Given the description of an element on the screen output the (x, y) to click on. 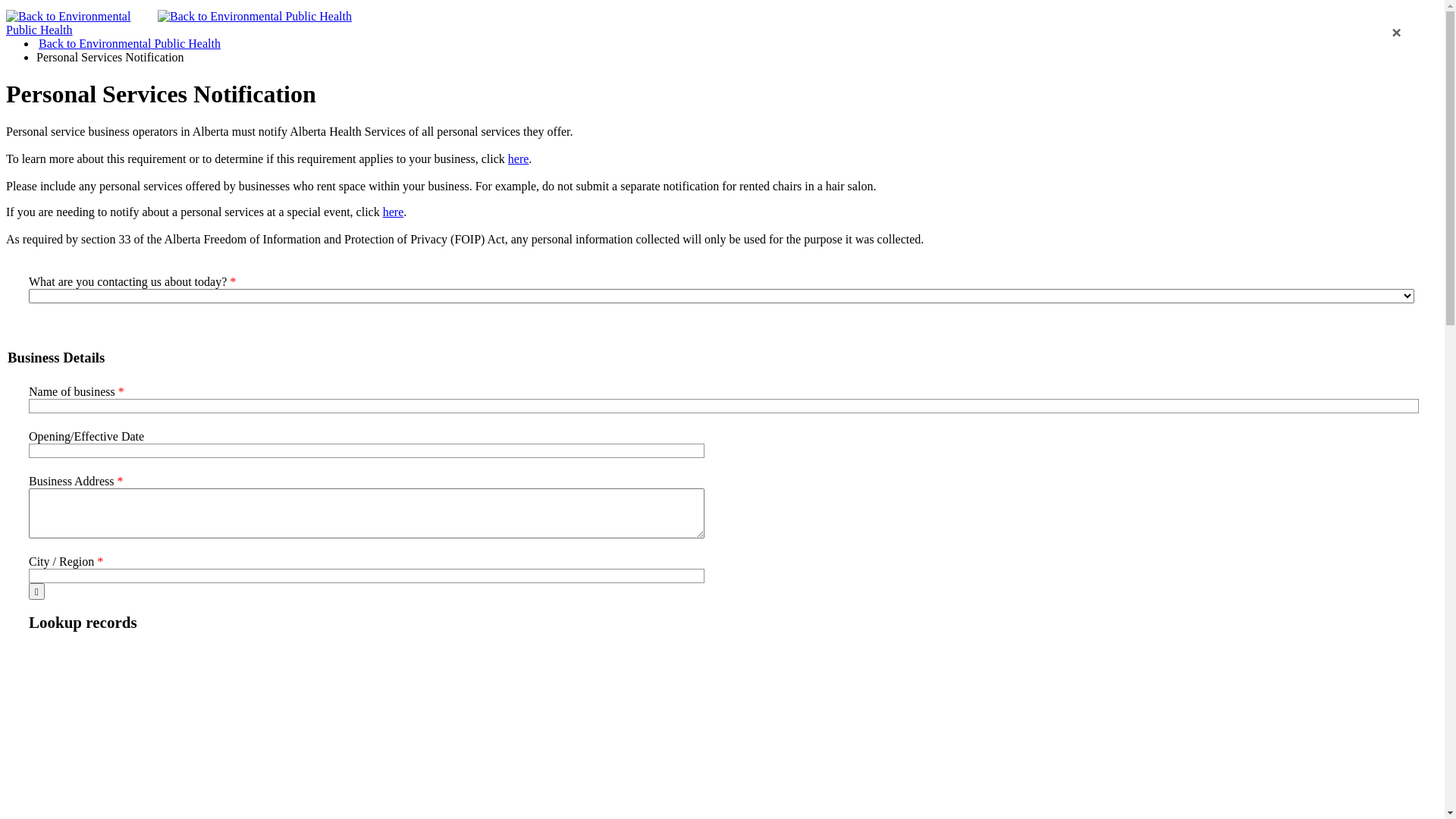
Name of business is a required field. Element type: hover (723, 405)
Back to Environmental Public Health Element type: text (129, 43)
here Element type: text (393, 211)
here Element type: text (518, 158)
Business Address is a required field. Element type: hover (366, 513)
Launch lookup modal Element type: text (36, 591)
